Given the description of an element on the screen output the (x, y) to click on. 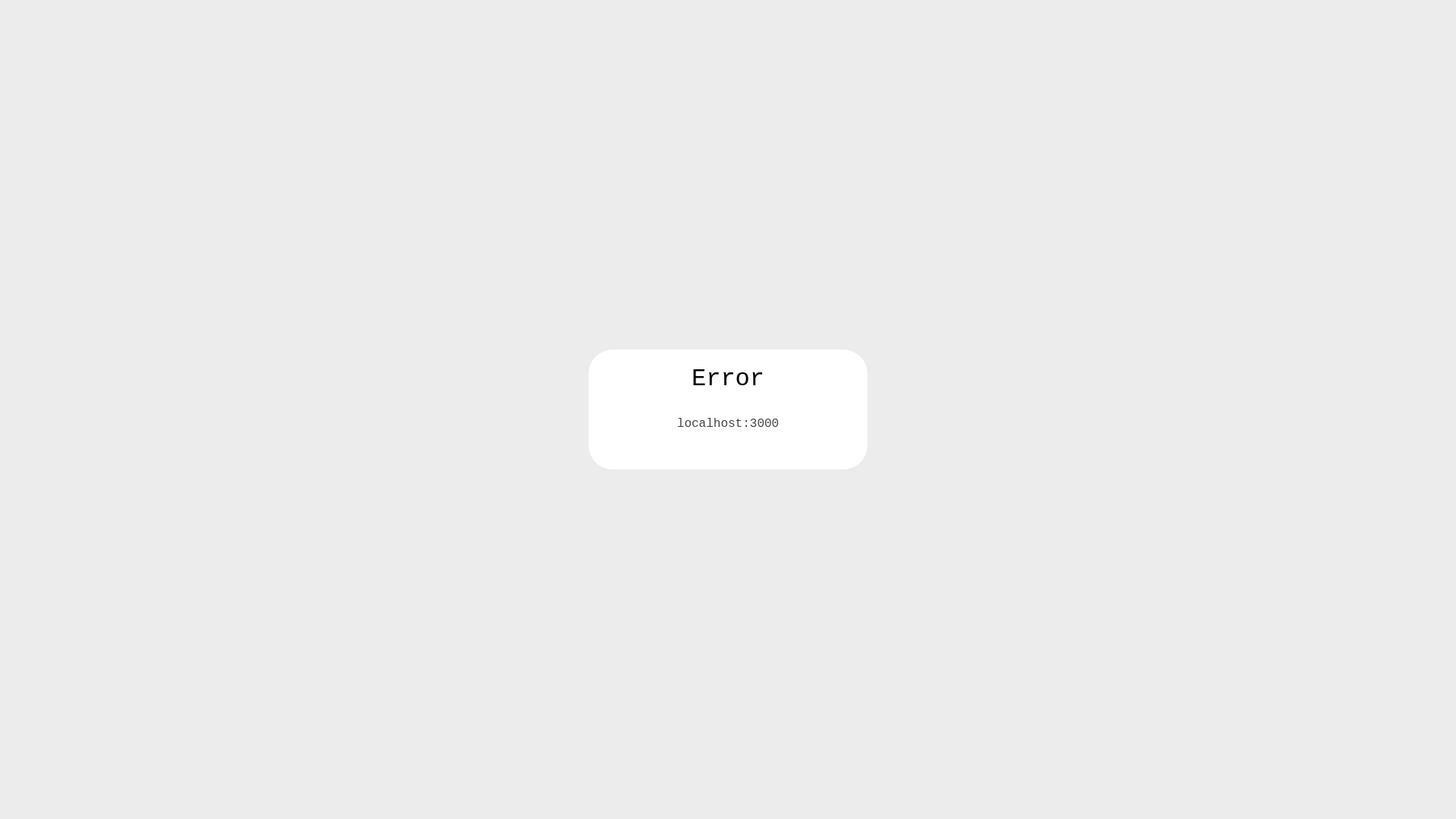
localhost:3000 Element type: text (727, 423)
